Given the description of an element on the screen output the (x, y) to click on. 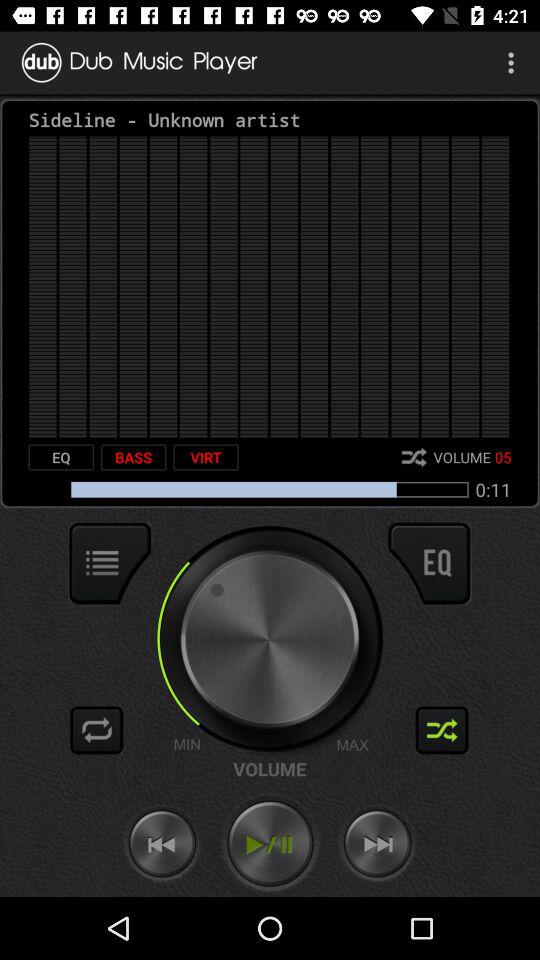
click the item next to the  bass  item (205, 457)
